Given the description of an element on the screen output the (x, y) to click on. 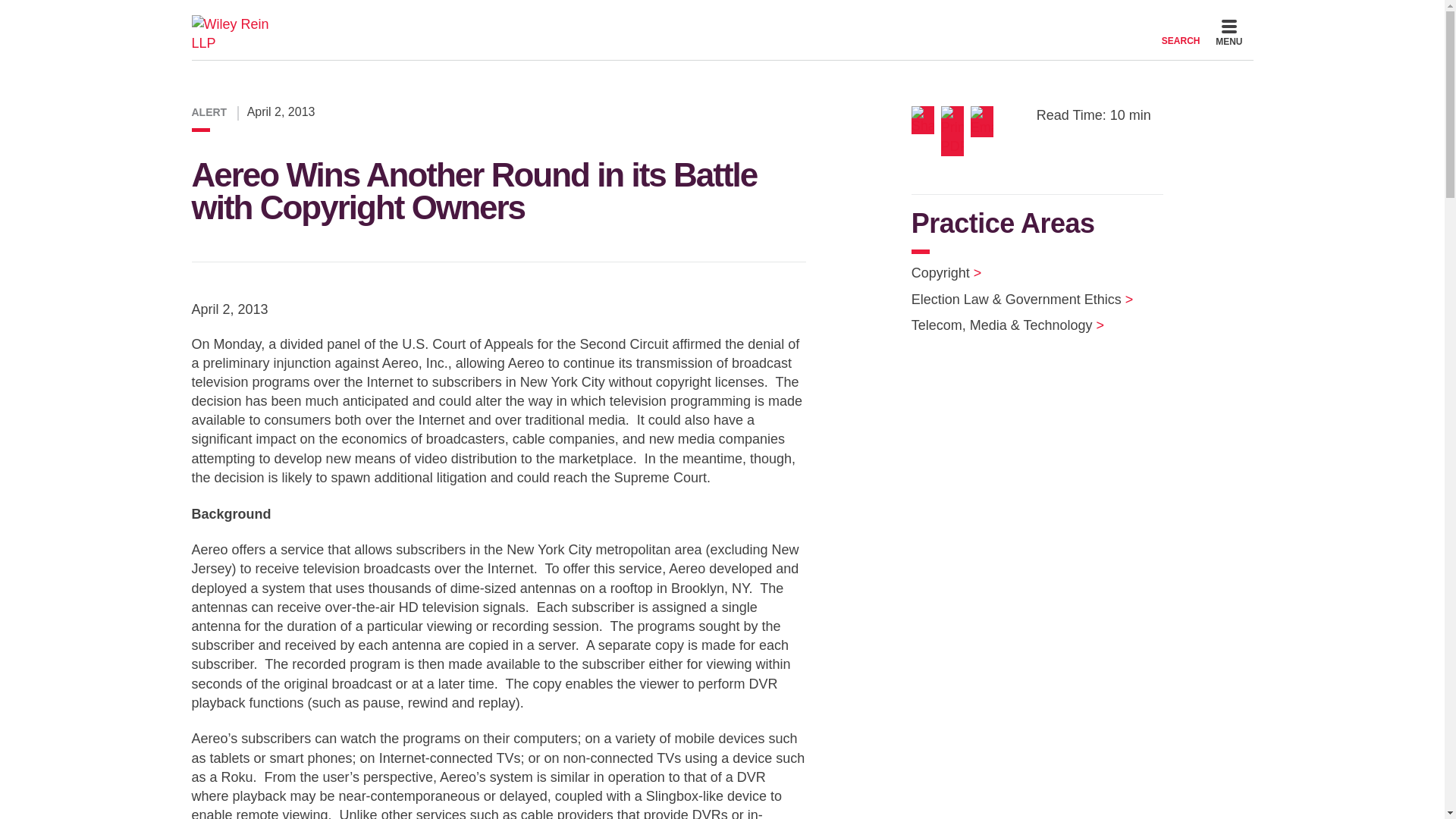
Main Menu (676, 17)
Main Content (669, 17)
Menu (676, 17)
SEARCH (1180, 32)
MENU (1228, 34)
Menu (1228, 34)
Share (925, 120)
Cookie Settings (663, 17)
